Given the description of an element on the screen output the (x, y) to click on. 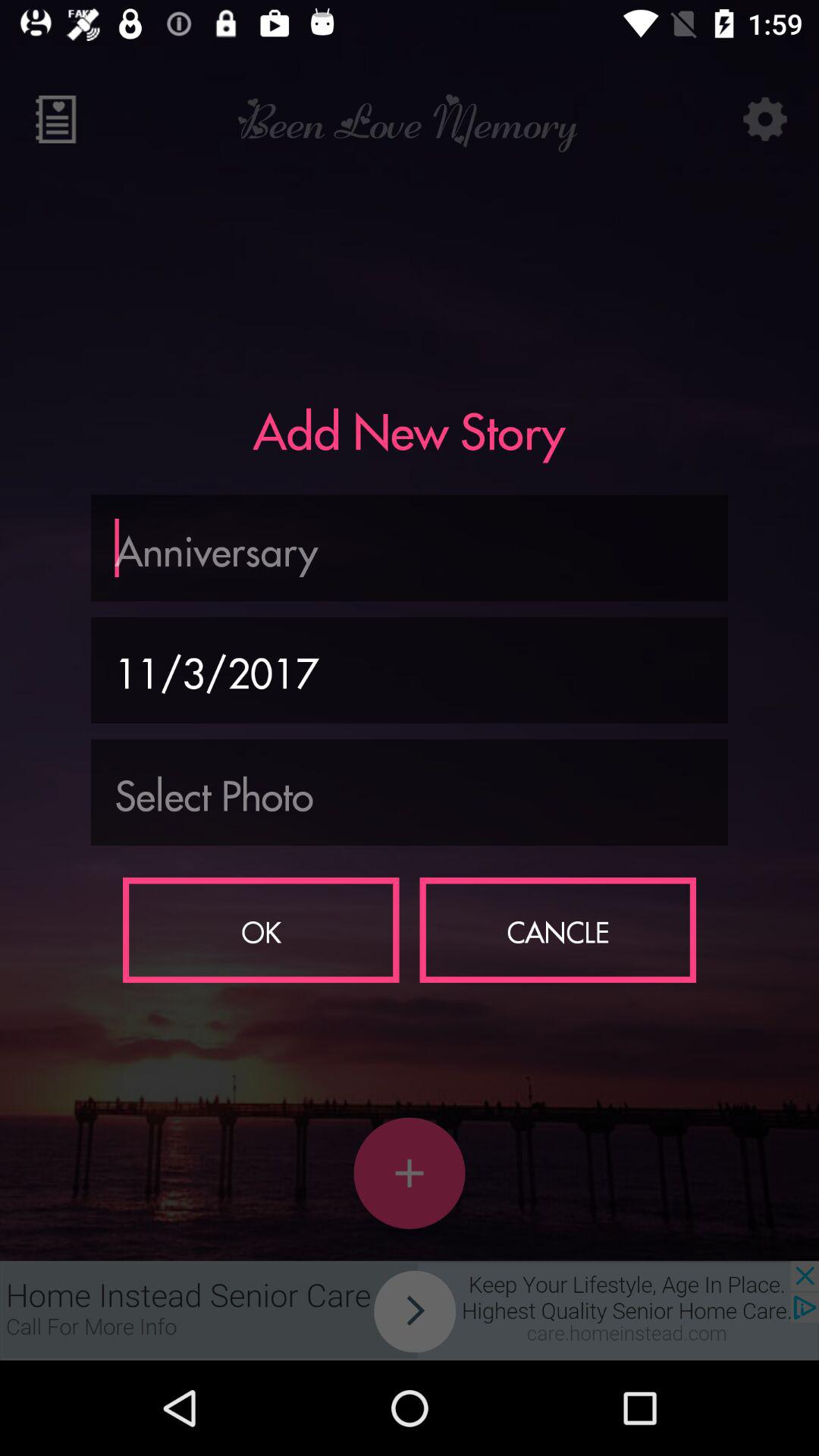
jump until ok (260, 929)
